Given the description of an element on the screen output the (x, y) to click on. 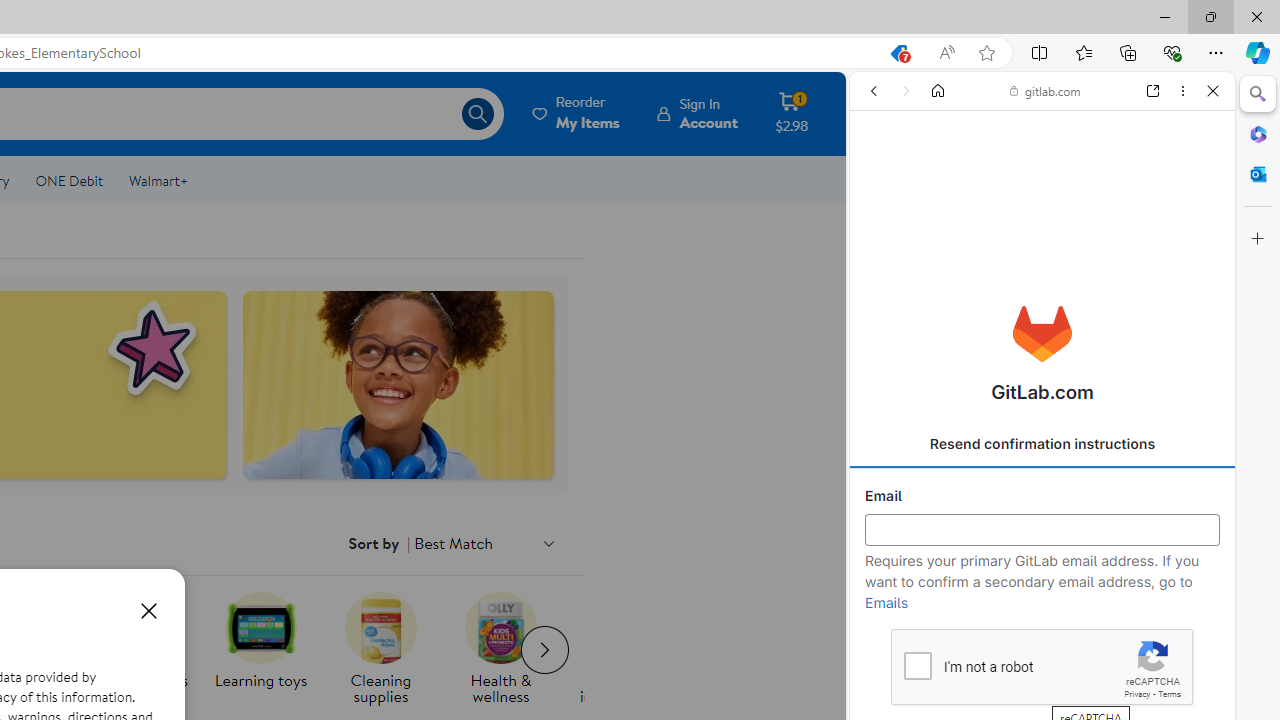
Class: b_serphb (1190, 229)
Search Filter, Search Tools (1090, 228)
About GitLab (1042, 592)
Email (1042, 530)
Emails (886, 603)
Terms (1169, 694)
Global web icon (888, 288)
gitlab.com (1045, 90)
Search Filter, IMAGES (936, 228)
